Given the description of an element on the screen output the (x, y) to click on. 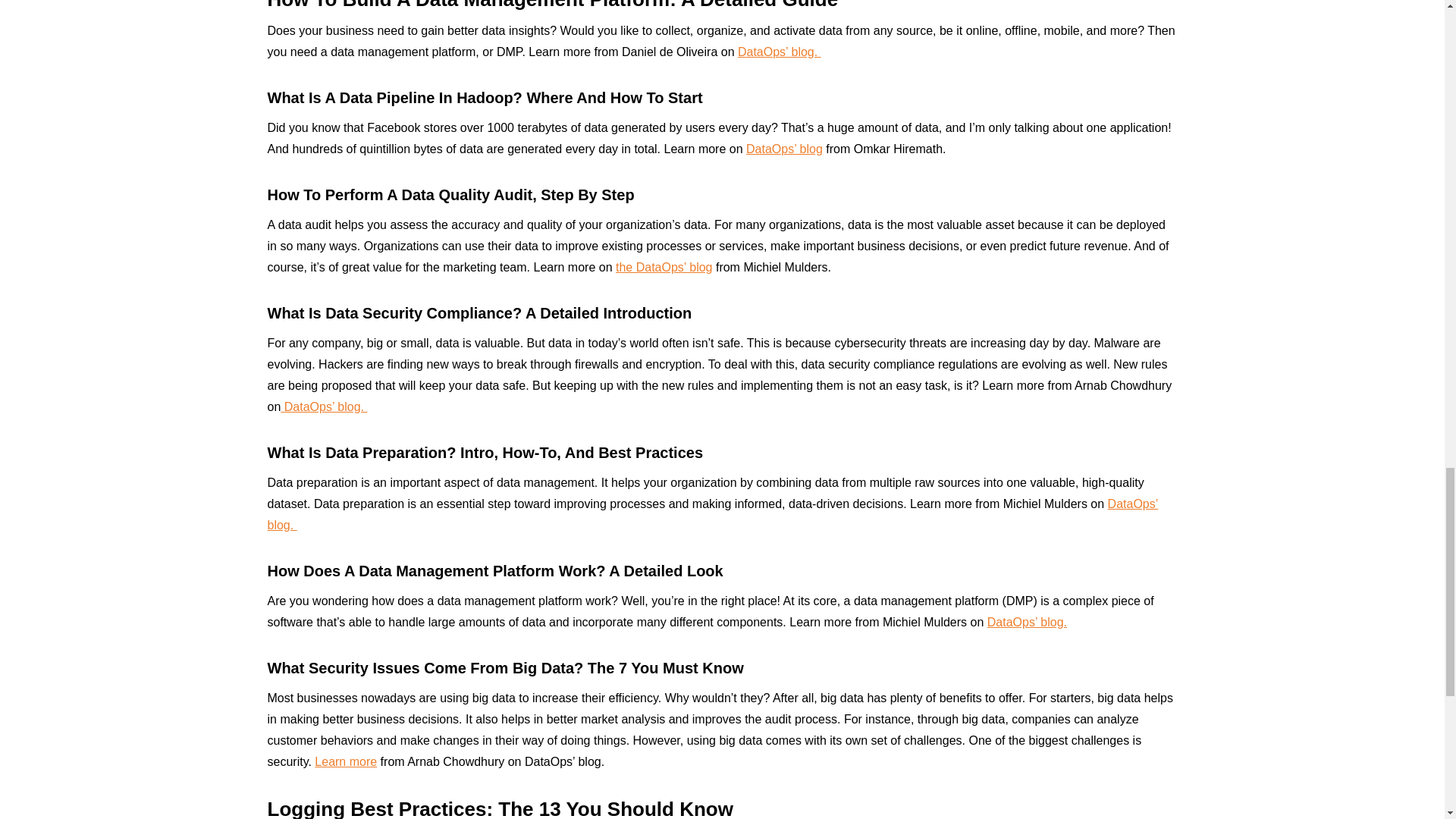
Learn more (345, 761)
